Given the description of an element on the screen output the (x, y) to click on. 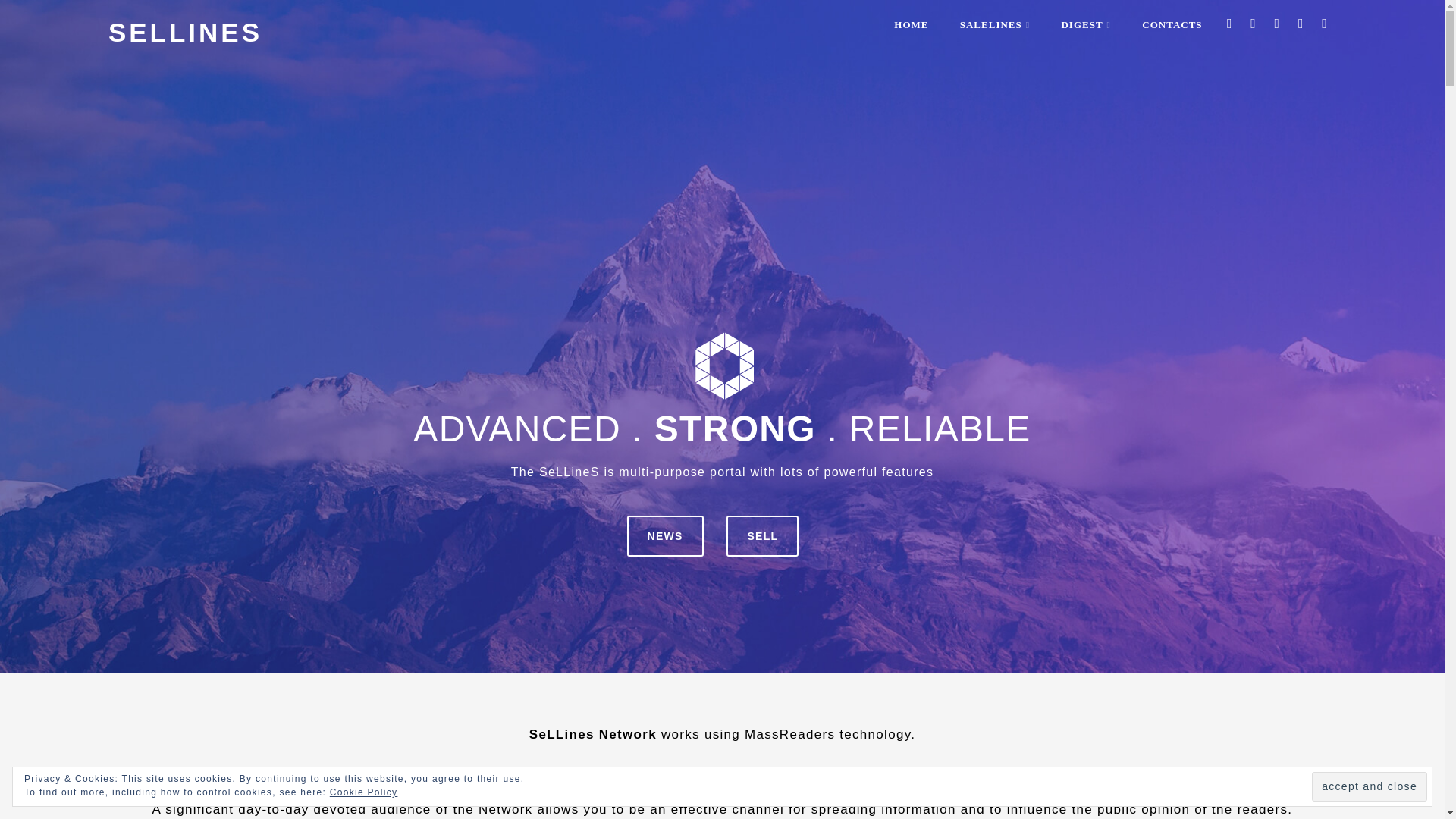
SELLINES (184, 31)
HOME (911, 24)
SELL (761, 535)
SALELINES (994, 24)
NEWS (665, 535)
CONTACTS (1171, 24)
DIGEST (1085, 24)
accept and close (1368, 786)
